Given the description of an element on the screen output the (x, y) to click on. 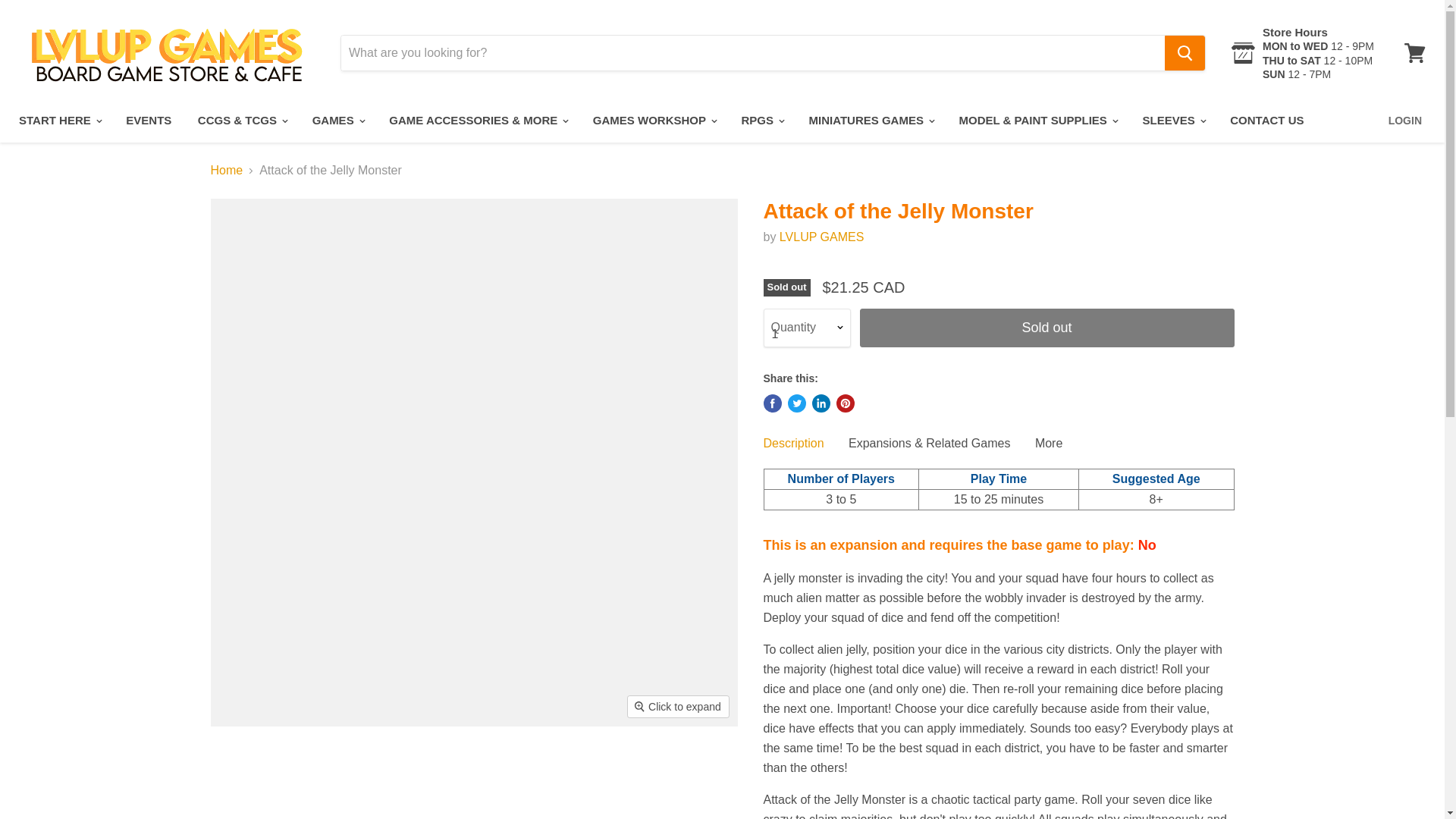
GAMES (337, 120)
EVENTS (149, 120)
View cart (1414, 53)
START HERE (59, 120)
LVLUP GAMES (820, 236)
